Given the description of an element on the screen output the (x, y) to click on. 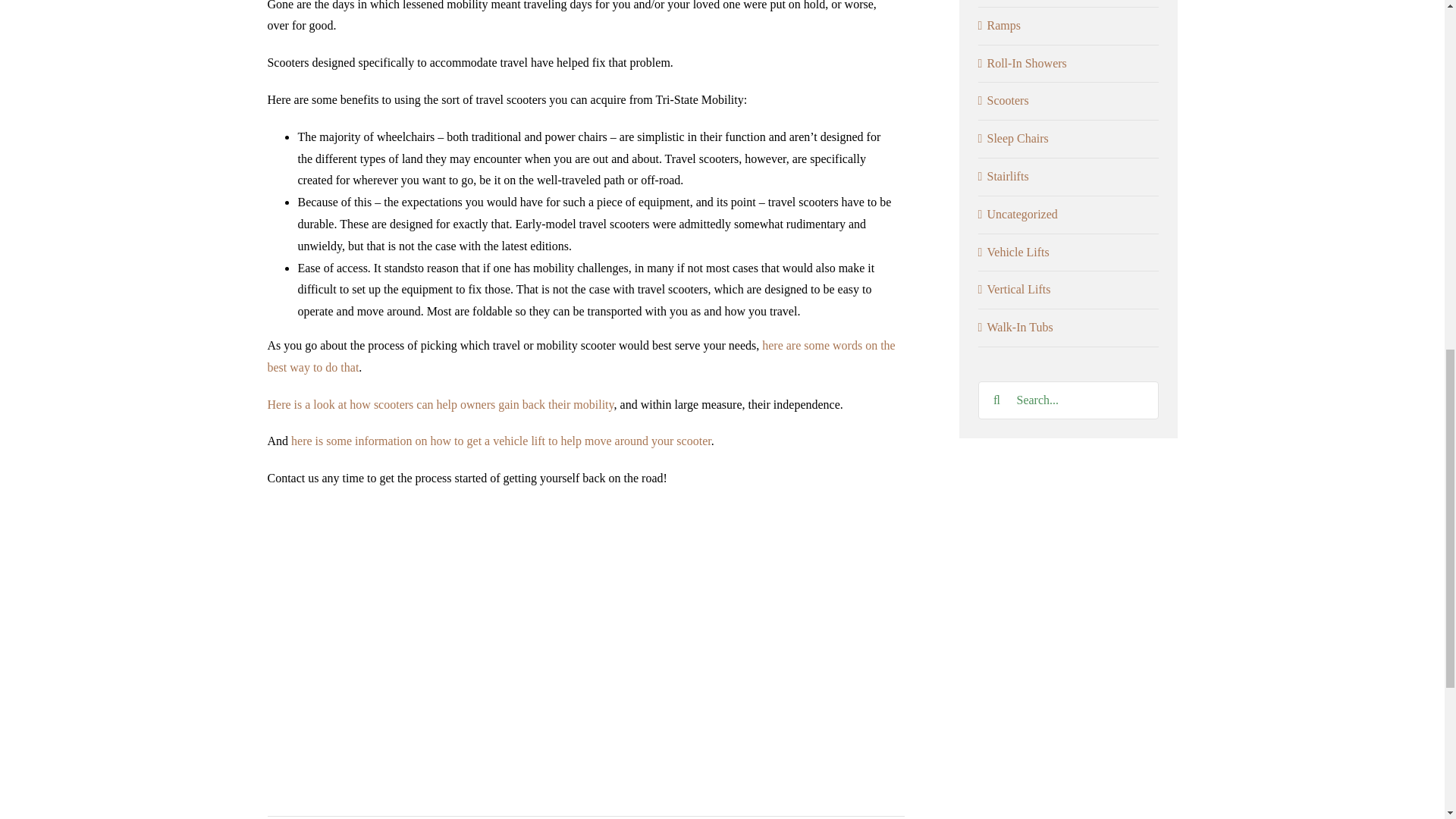
Uncategorized (1069, 214)
YouTube video player 1 (494, 798)
here are some words on the best way to do that (580, 356)
Roll-In Showers (1069, 64)
Vehicle Lifts (1069, 252)
Vertical Lifts (1069, 290)
Walk-In Tubs (1069, 327)
Sleep Chairs (1069, 138)
Scooters (1069, 101)
Ramps (1069, 25)
Stairlifts (1069, 177)
